Given the description of an element on the screen output the (x, y) to click on. 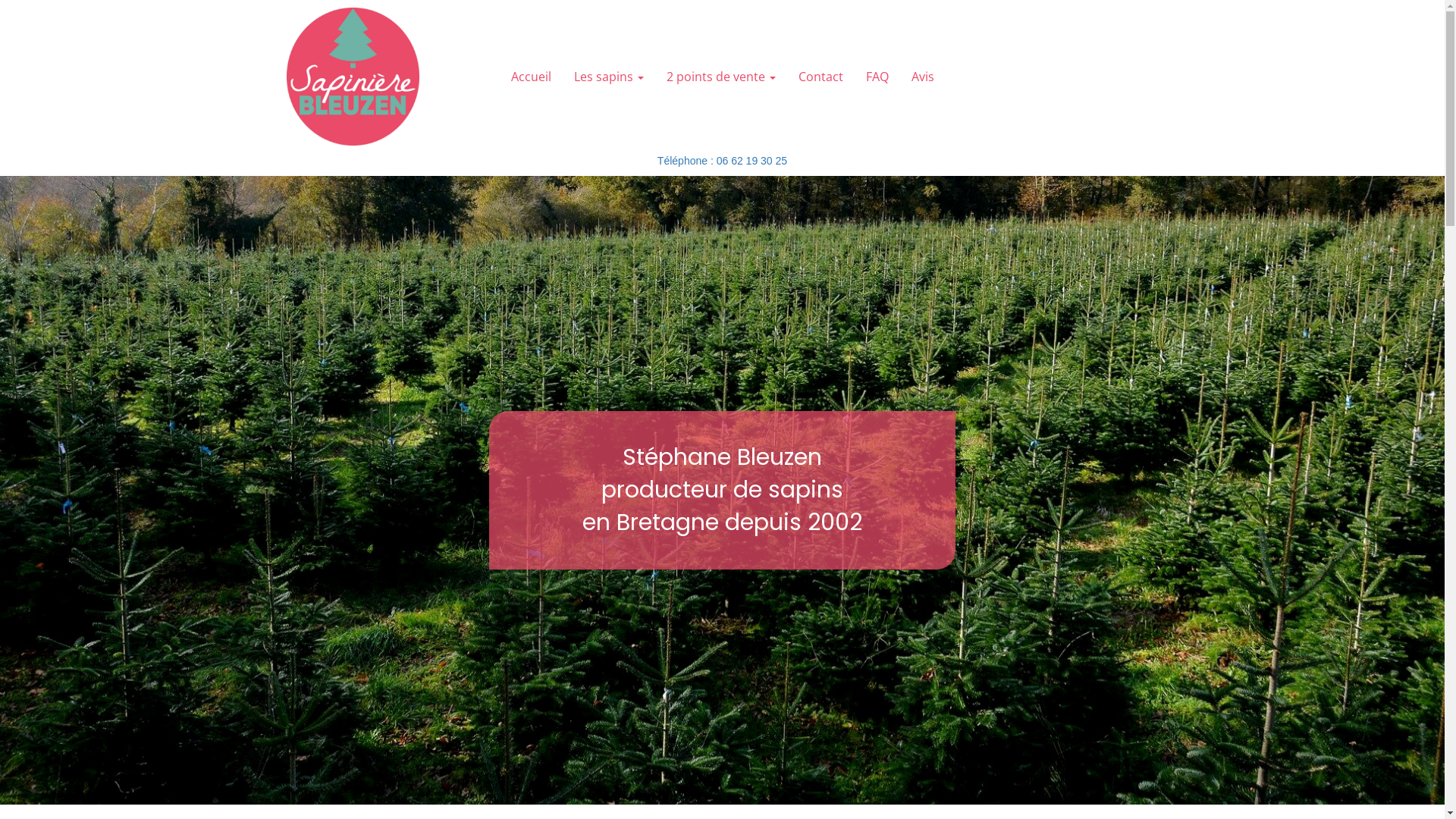
Les sapins Element type: text (608, 76)
Avis Element type: text (921, 76)
Accueil Element type: text (529, 76)
2 points de vente Element type: text (721, 76)
Retour page d'Accueil Element type: hover (352, 76)
Contact Element type: text (820, 76)
FAQ Element type: text (876, 76)
